Given the description of an element on the screen output the (x, y) to click on. 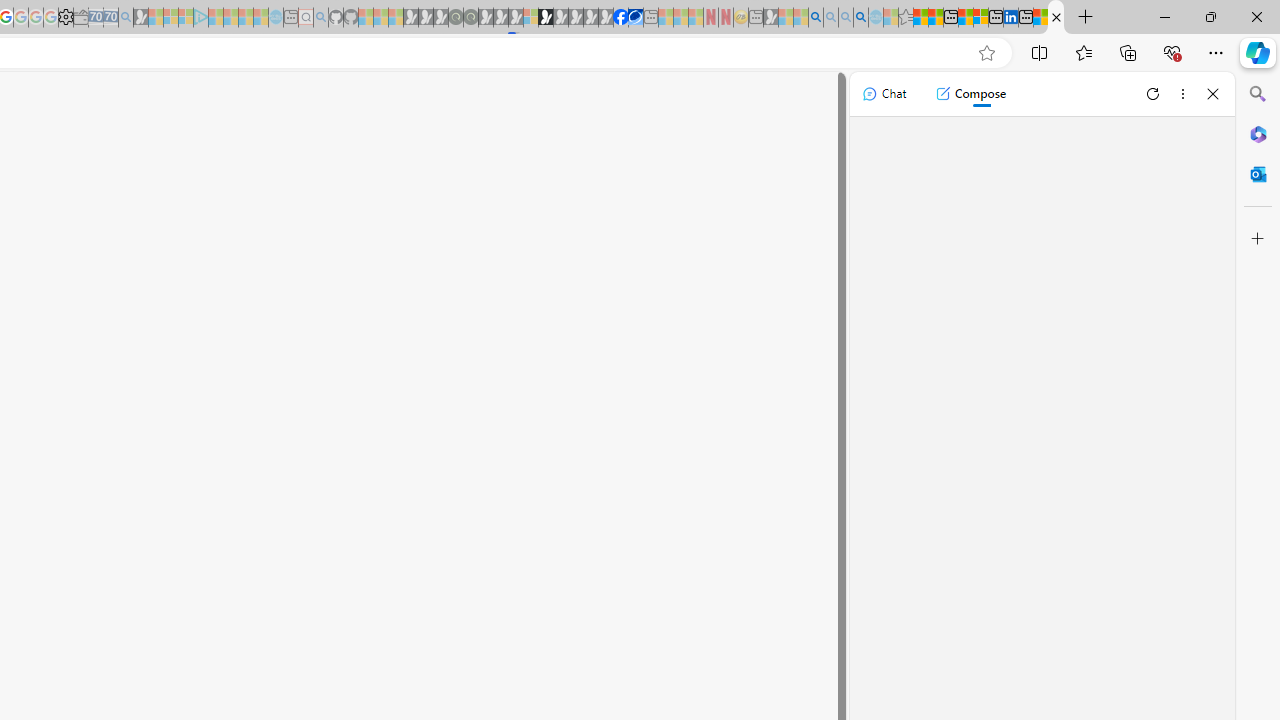
LinkedIn (1010, 17)
Sign in to your account - Sleeping (530, 17)
